Given the description of an element on the screen output the (x, y) to click on. 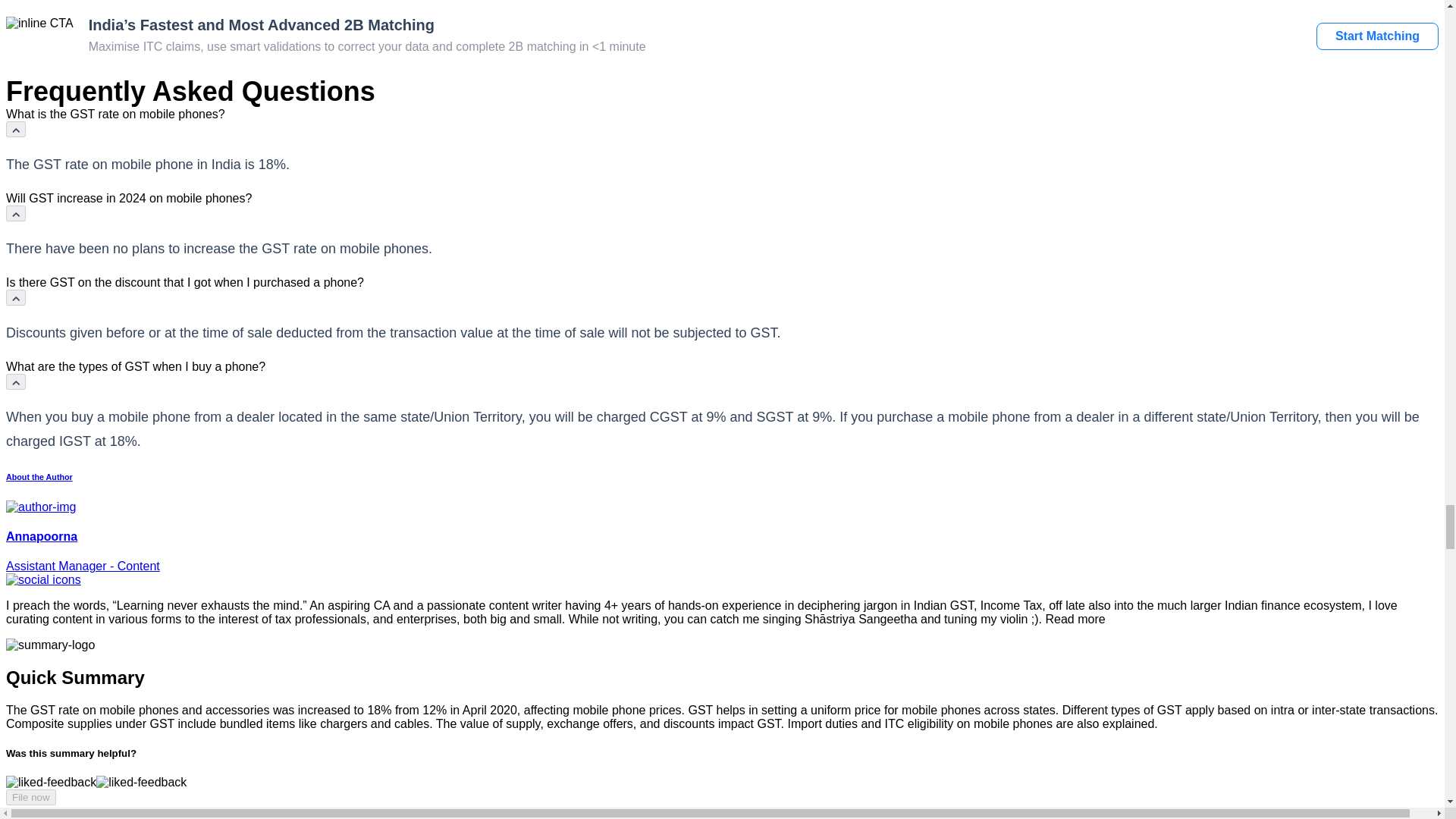
like (50, 782)
share on linkedIn (43, 579)
dislike (141, 782)
